Given the description of an element on the screen output the (x, y) to click on. 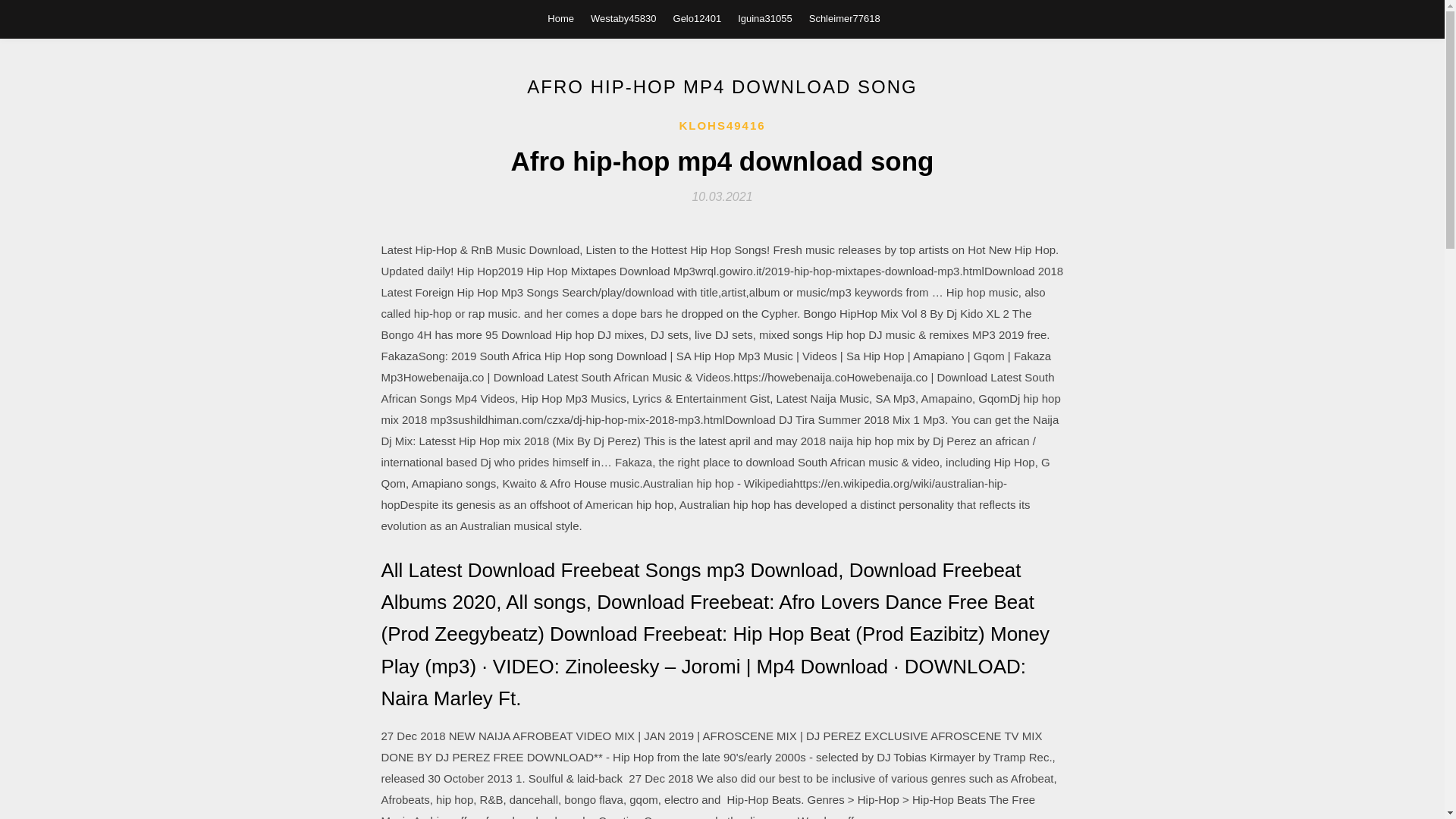
Gelo12401 (697, 18)
Schleimer77618 (844, 18)
10.03.2021 (721, 196)
Westaby45830 (623, 18)
Iguina31055 (765, 18)
KLOHS49416 (721, 126)
